Given the description of an element on the screen output the (x, y) to click on. 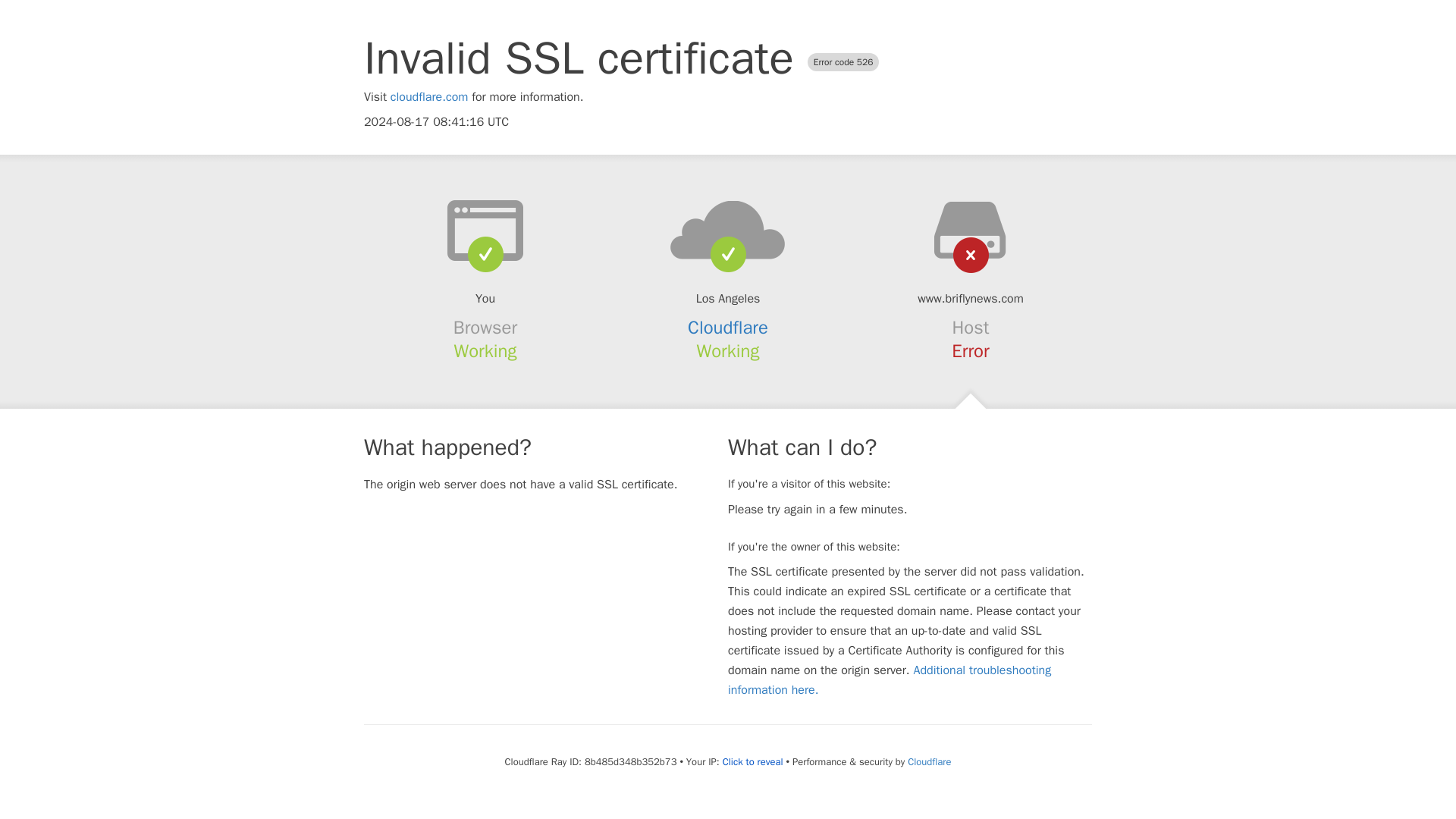
Cloudflare (727, 327)
Additional troubleshooting information here. (889, 679)
Click to reveal (752, 762)
Cloudflare (928, 761)
cloudflare.com (429, 96)
